Given the description of an element on the screen output the (x, y) to click on. 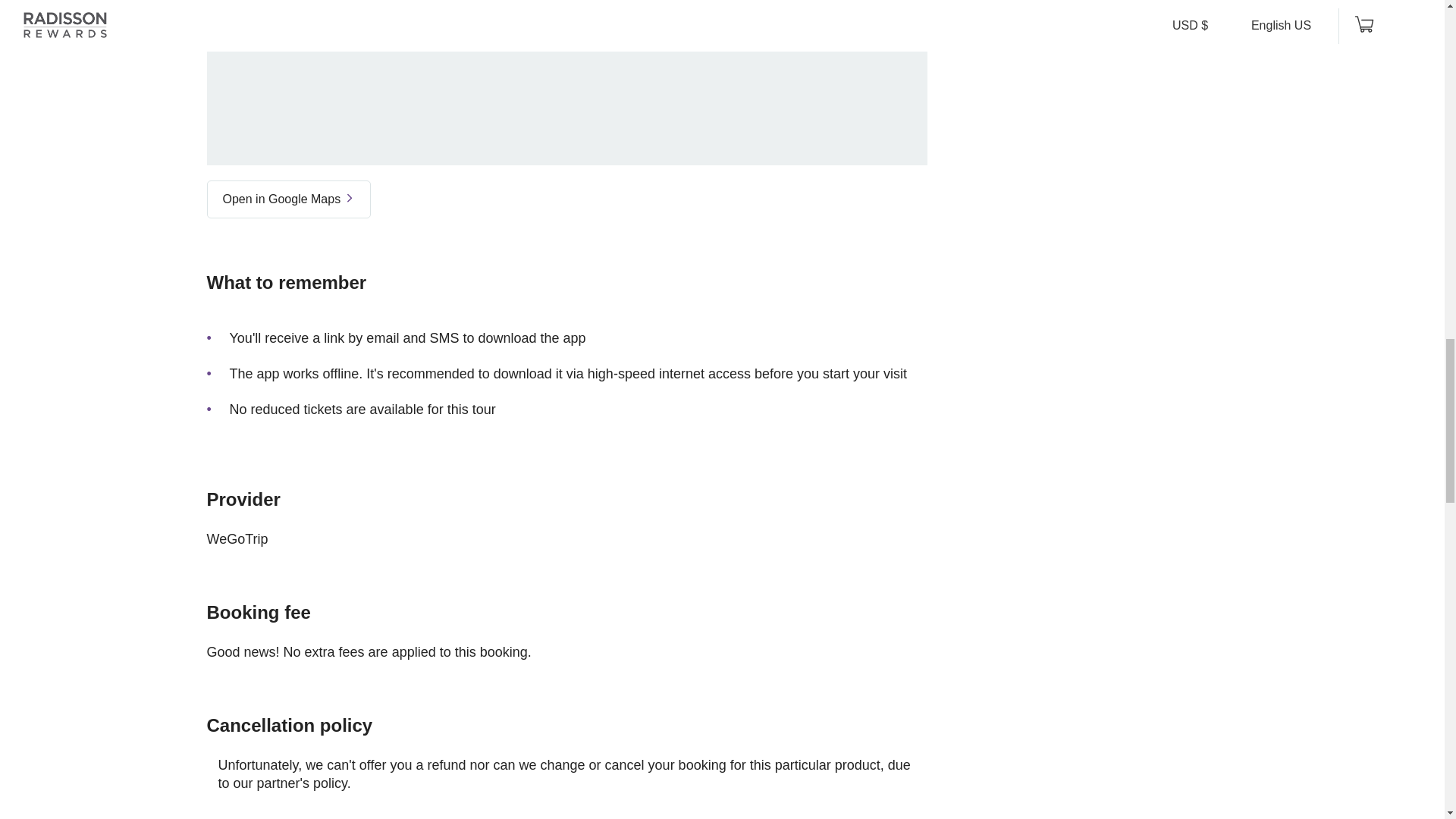
Open in Google Maps (287, 199)
Open in Google Maps (287, 191)
